Given the description of an element on the screen output the (x, y) to click on. 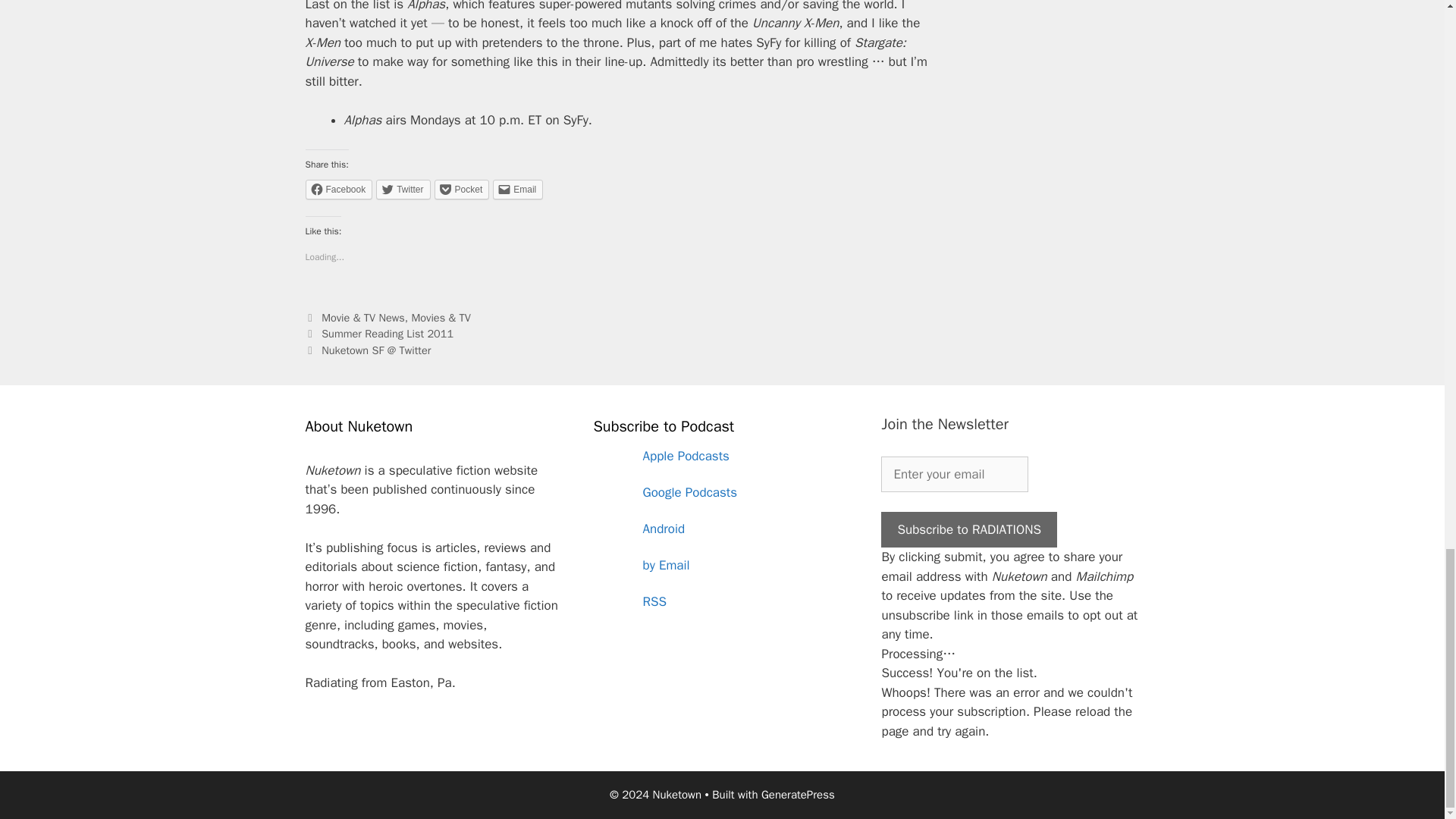
Click to share on Pocket (461, 189)
Subscribe on Apple Podcasts (721, 456)
Subscribe via RSS (721, 601)
Subscribe on Google Podcasts (721, 493)
Subscribe by Email (721, 565)
Twitter (402, 189)
Enter your email (953, 474)
Pocket (461, 189)
Click to share on Facebook (338, 189)
Facebook (338, 189)
